Given the description of an element on the screen output the (x, y) to click on. 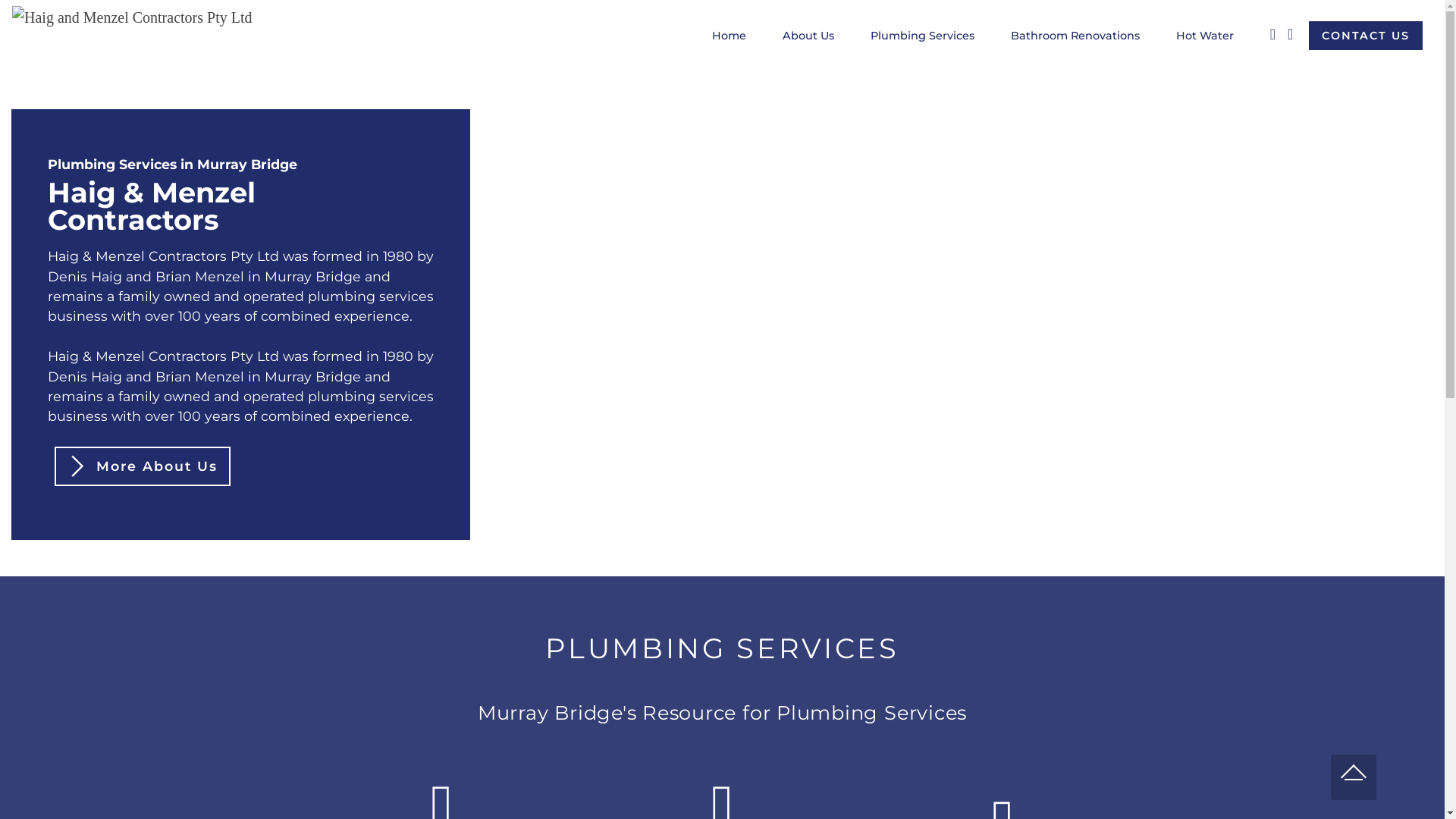
Hot Water Element type: text (1204, 35)
Plumbing Services Element type: text (922, 35)
Nankivell Conveyancing Element type: hover (132, 35)
Bathroom Renovations Element type: text (1074, 35)
More About Us Element type: text (142, 466)
Home Element type: text (728, 35)
About Us Element type: text (808, 35)
CONTACT US Element type: text (1365, 35)
